Given the description of an element on the screen output the (x, y) to click on. 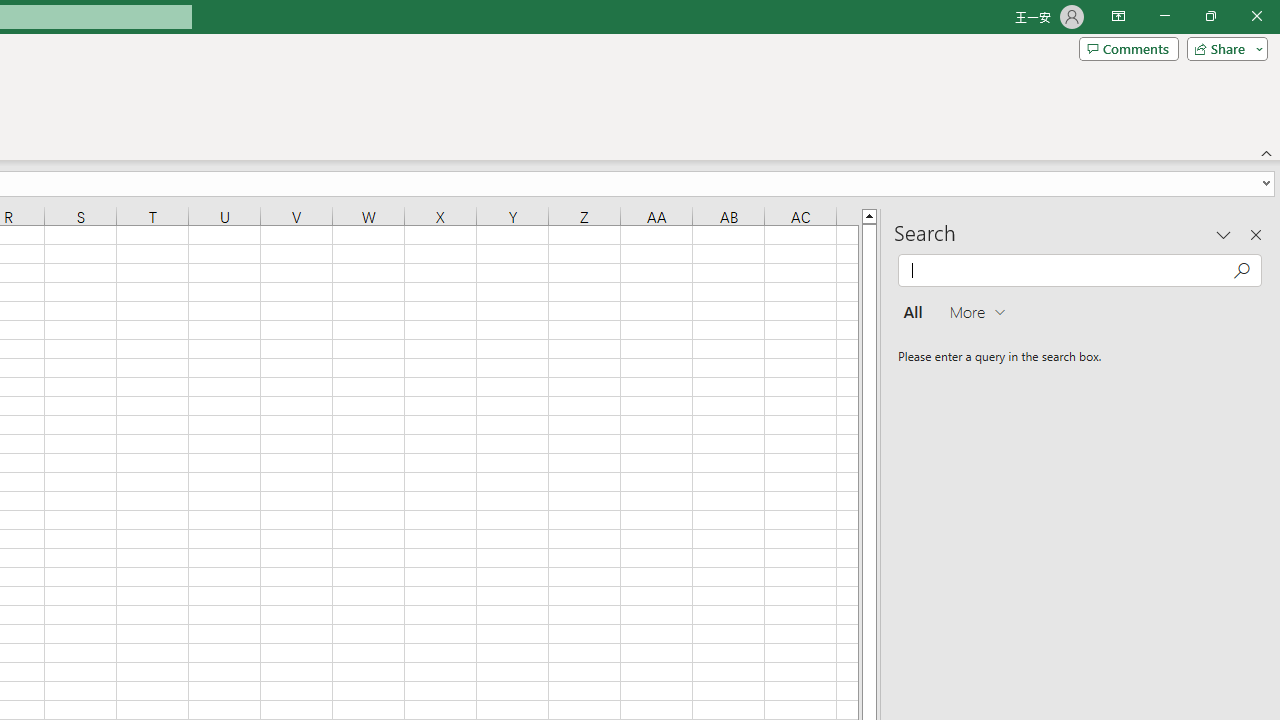
Task Pane Options (1224, 234)
Close pane (1256, 234)
